Given the description of an element on the screen output the (x, y) to click on. 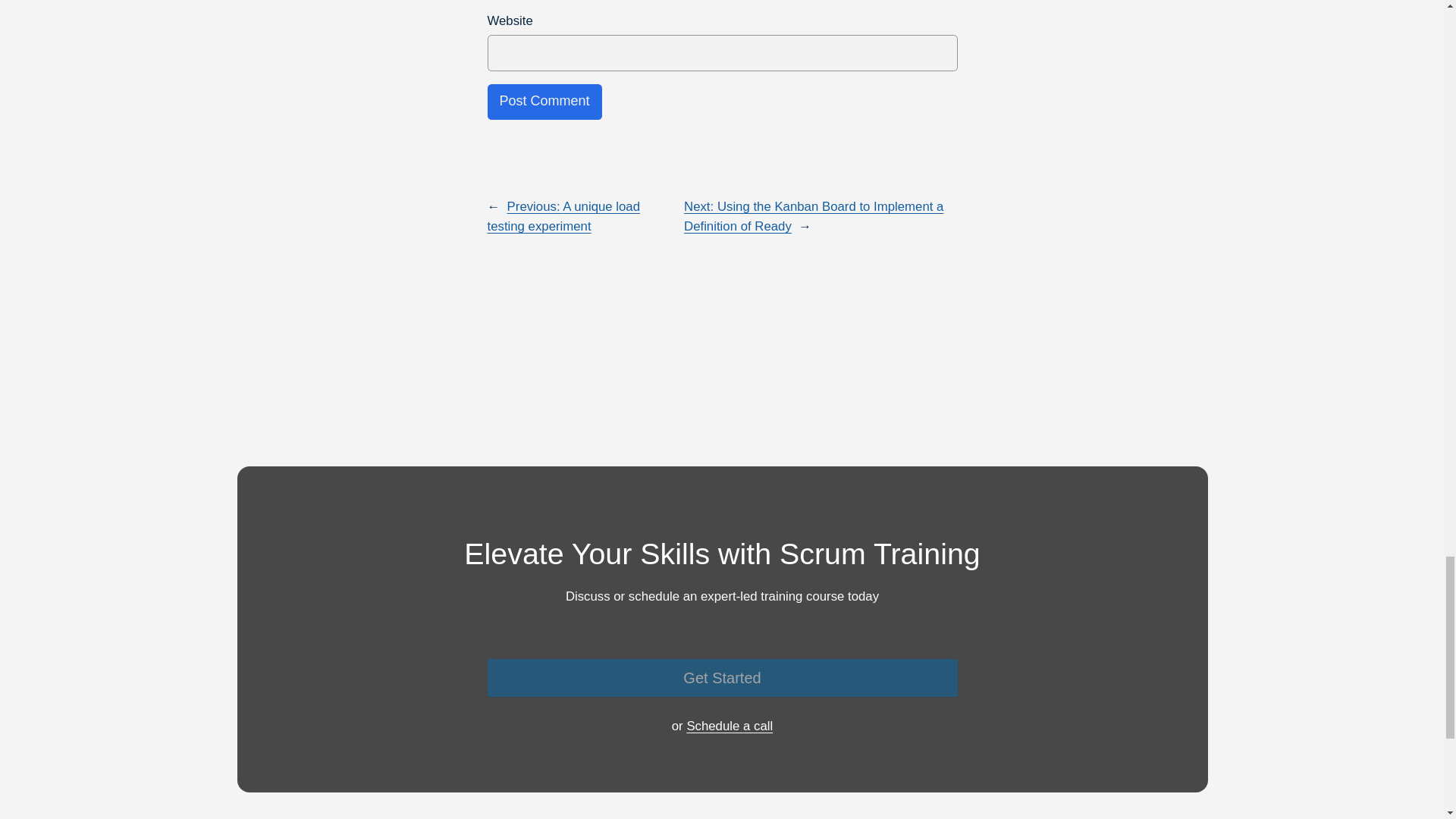
Previous: A unique load testing experiment (563, 216)
Post Comment (543, 101)
Post Comment (543, 101)
Get Started (721, 677)
Schedule a call (729, 726)
